Given the description of an element on the screen output the (x, y) to click on. 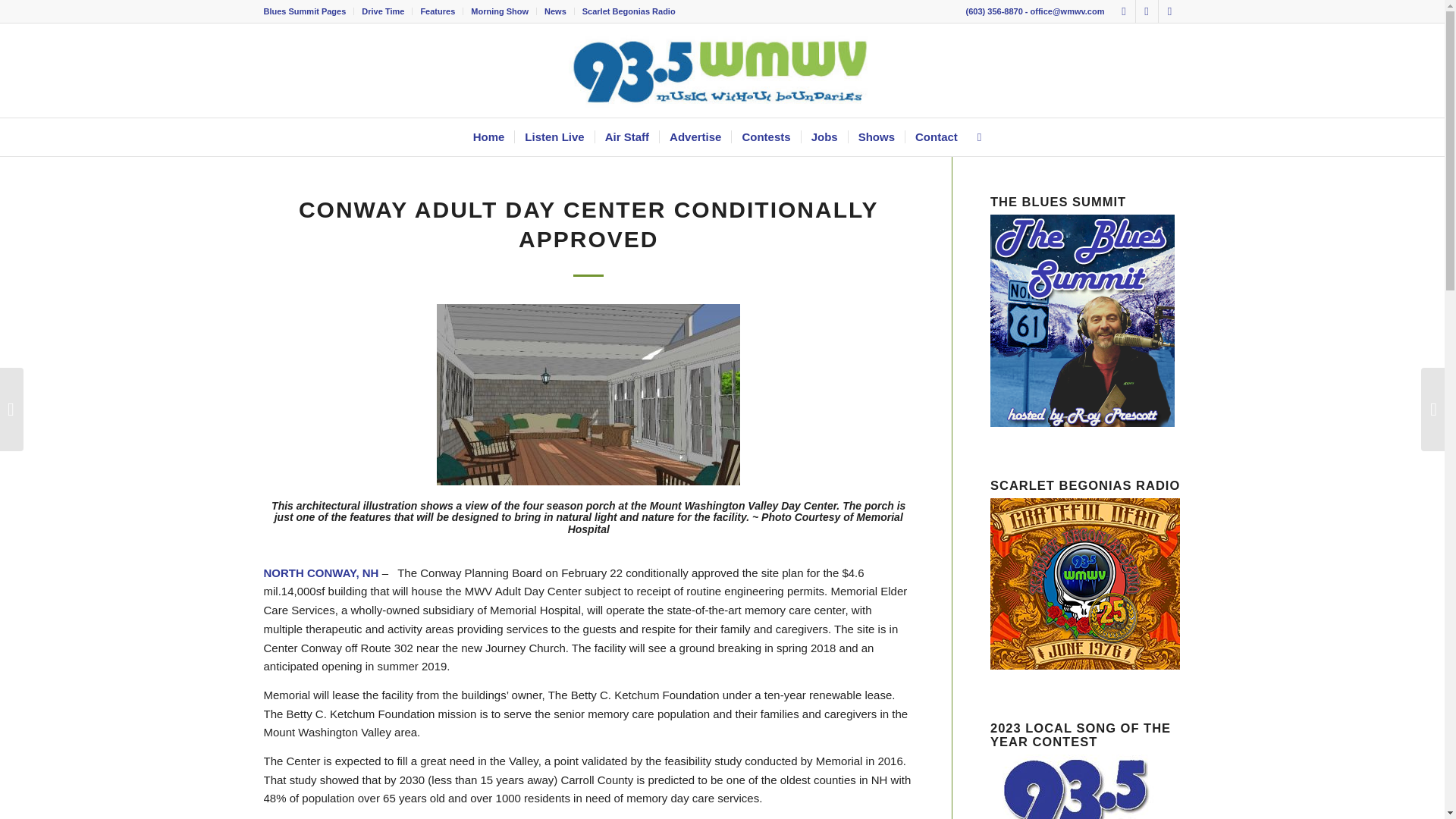
Jobs (823, 136)
logo-1 (721, 70)
Contests (764, 136)
Blues Summit Pages (304, 11)
Drive Time (382, 11)
Advertise (694, 136)
Shows (875, 136)
Contact (936, 136)
Morning Show (499, 11)
News (555, 11)
Facebook (1124, 11)
Listen Live (553, 136)
Features (437, 11)
Scarlet Begonias Radio (628, 11)
Air Staff (626, 136)
